Given the description of an element on the screen output the (x, y) to click on. 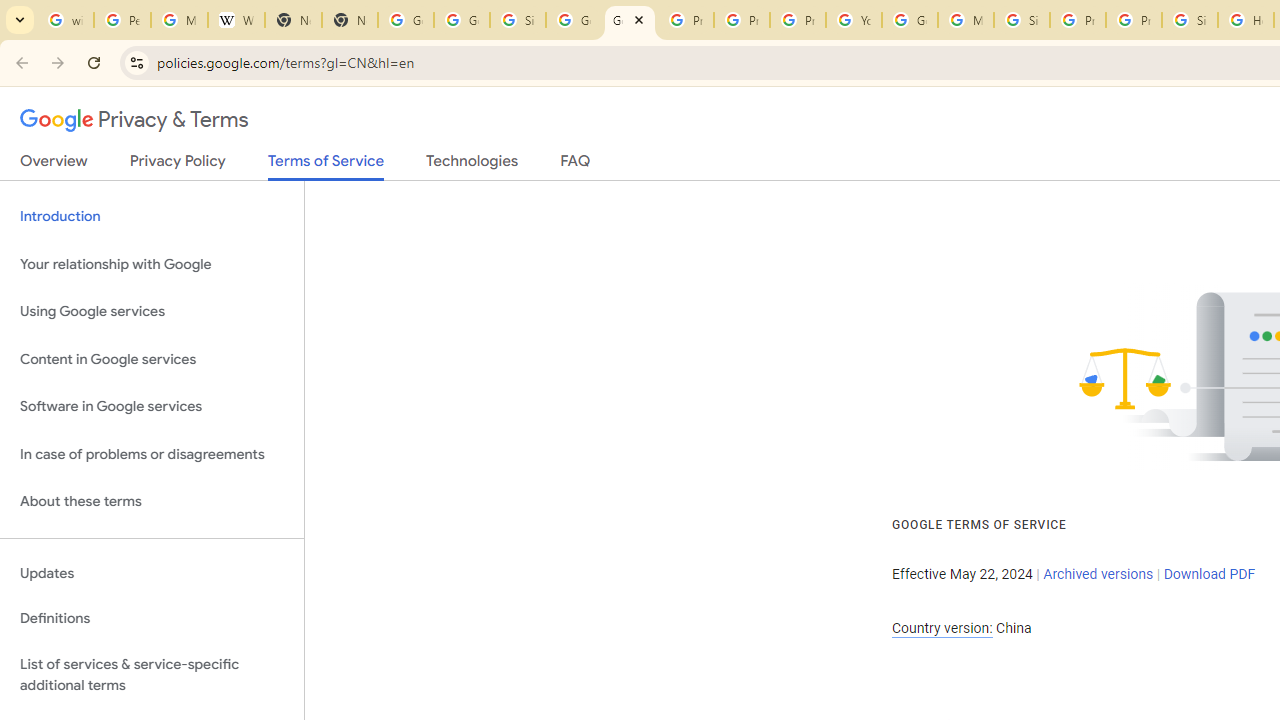
Software in Google services (152, 407)
Sign in - Google Accounts (1190, 20)
Google Drive: Sign-in (461, 20)
New Tab (293, 20)
Country version: (942, 628)
About these terms (152, 502)
Download PDF (1209, 574)
